Given the description of an element on the screen output the (x, y) to click on. 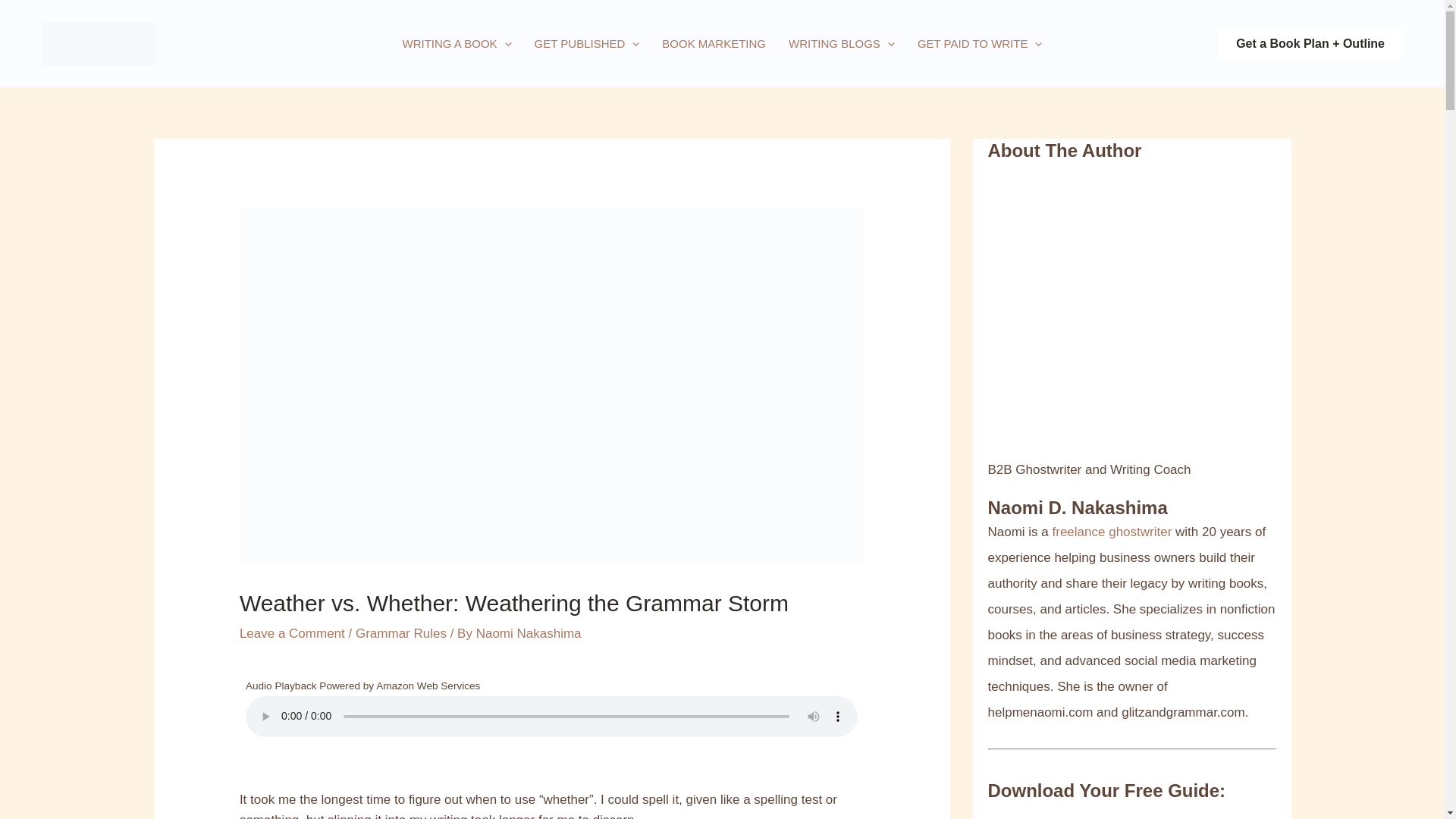
Naomi Nakashima (528, 633)
WRITING A BOOK (456, 43)
BOOK MARKETING (713, 43)
GET PAID TO WRITE (979, 43)
GET PUBLISHED (586, 43)
Leave a Comment (292, 633)
Grammar Rules (400, 633)
View all posts by Naomi Nakashima (528, 633)
WRITING BLOGS (841, 43)
